Given the description of an element on the screen output the (x, y) to click on. 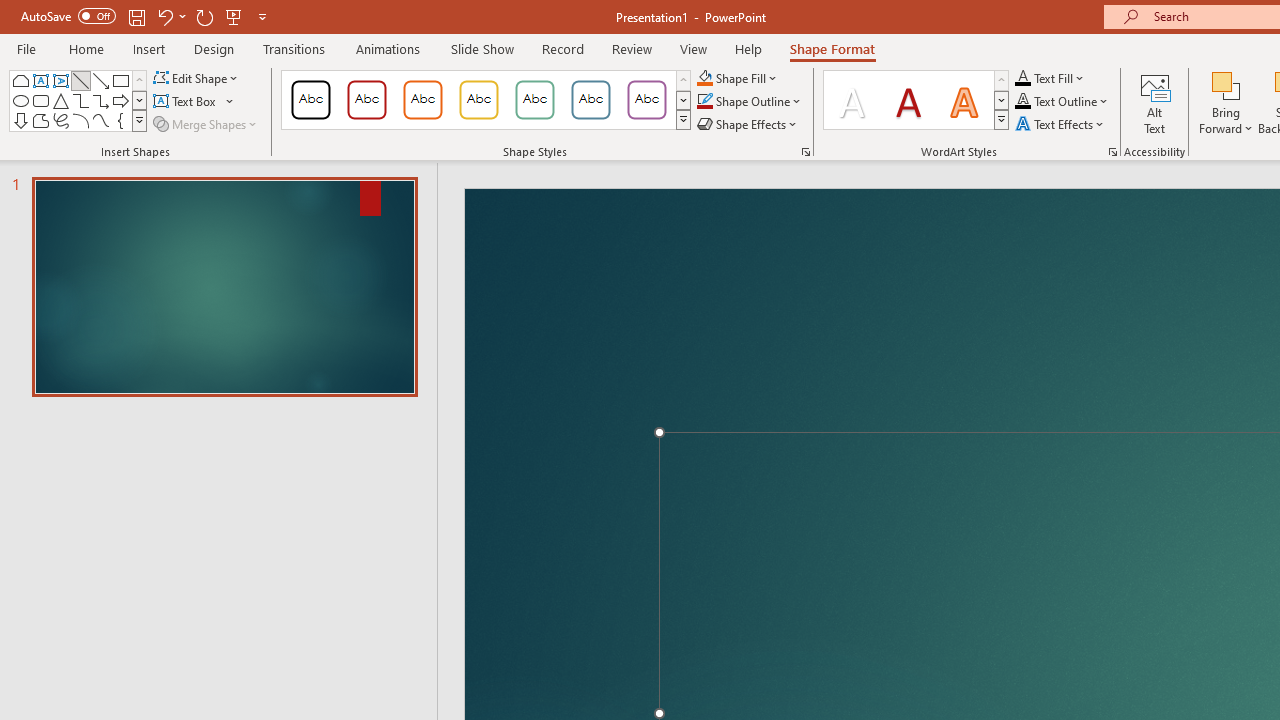
Quick Styles (1001, 120)
Format Text Effects... (1112, 151)
Text Box (194, 101)
Shapes (139, 120)
Colored Outline - Dark Red, Accent 1 (367, 100)
Vertical Text Box (60, 80)
Oval (20, 100)
Line (80, 80)
